Given the description of an element on the screen output the (x, y) to click on. 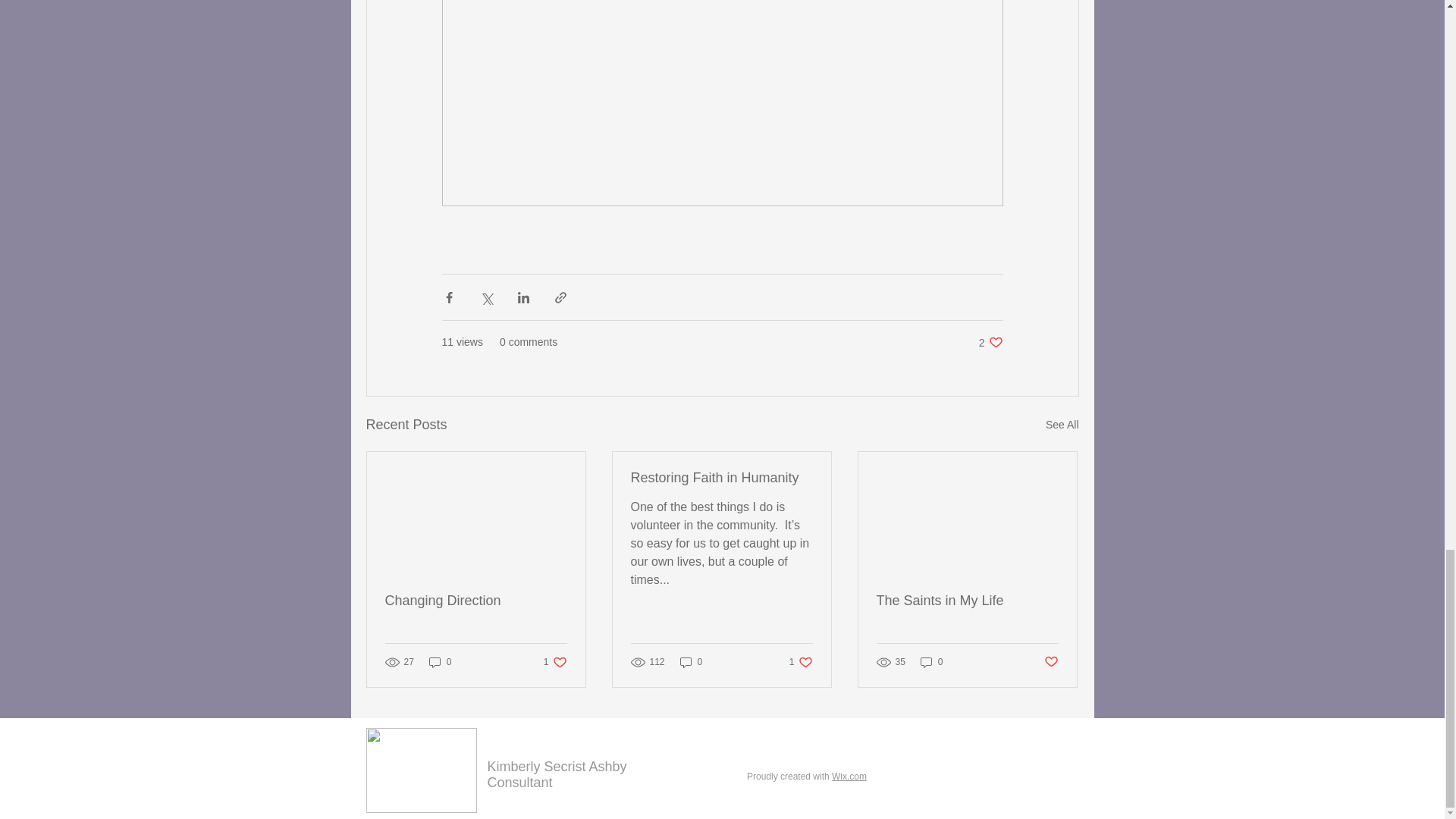
Facebook Like (800, 661)
The Saints in My Life (999, 801)
0 (990, 341)
0 (967, 600)
Changing Direction (691, 661)
Wix.com (931, 661)
Post not marked as liked (476, 600)
